Given the description of an element on the screen output the (x, y) to click on. 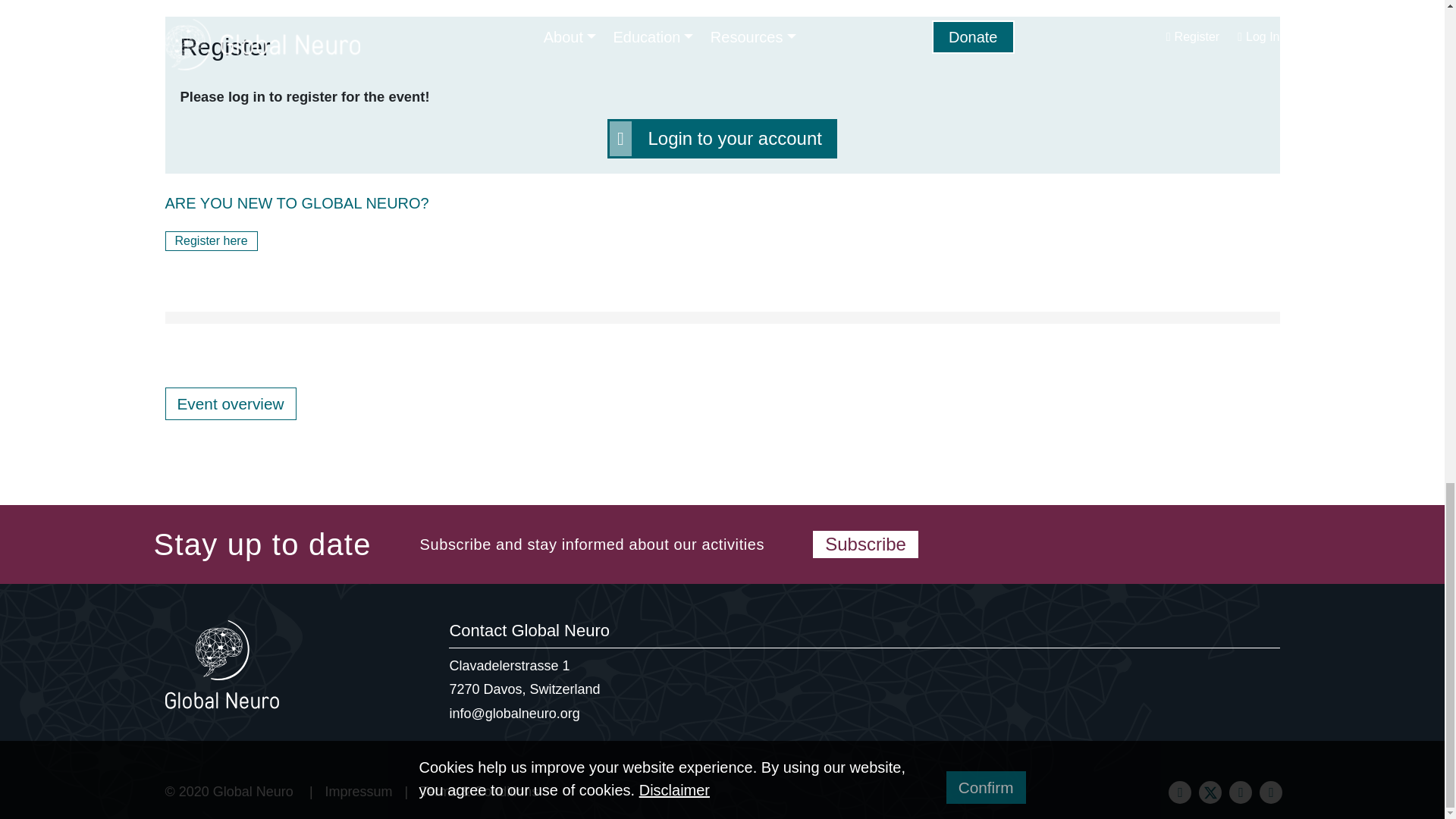
Footer Logo (222, 663)
